Given the description of an element on the screen output the (x, y) to click on. 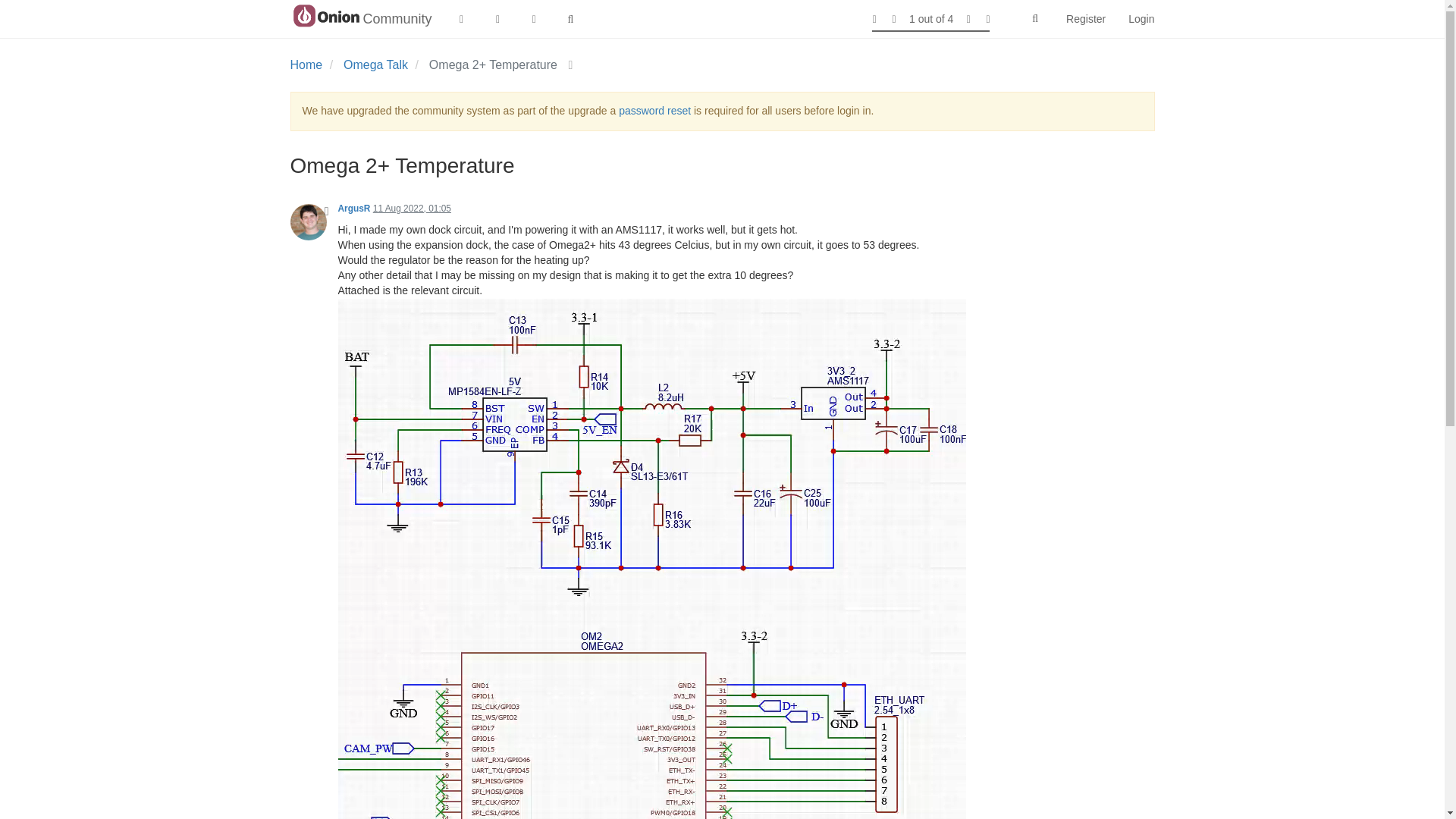
password reset (654, 110)
11 Aug 2022, 01:05 (411, 208)
Home (305, 64)
11 Aug 2022, 01:05 (411, 208)
ArgusR (354, 208)
1 out of 4 (930, 18)
Register (1085, 18)
Search (1034, 18)
Login (1141, 18)
Omega Talk (375, 64)
